Given the description of an element on the screen output the (x, y) to click on. 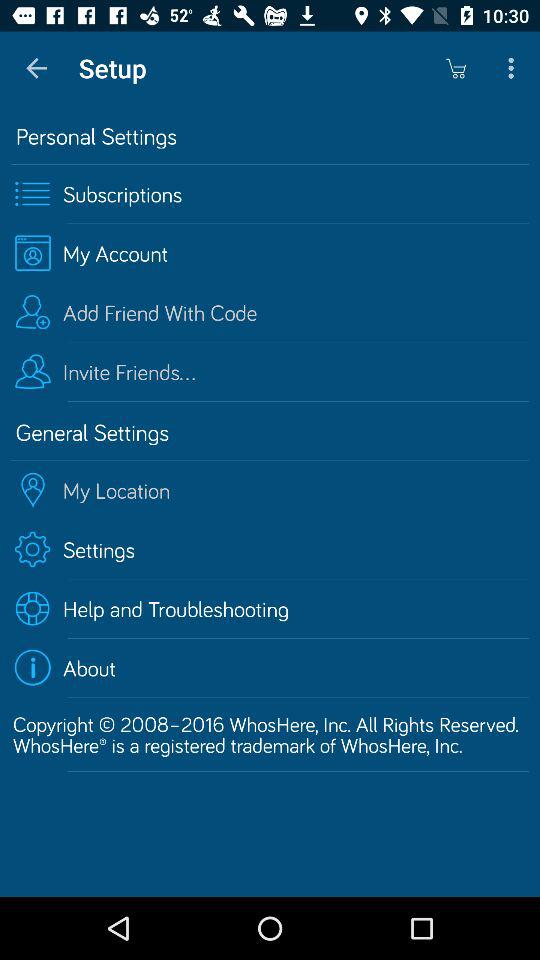
turn off app to the left of setup icon (36, 68)
